Given the description of an element on the screen output the (x, y) to click on. 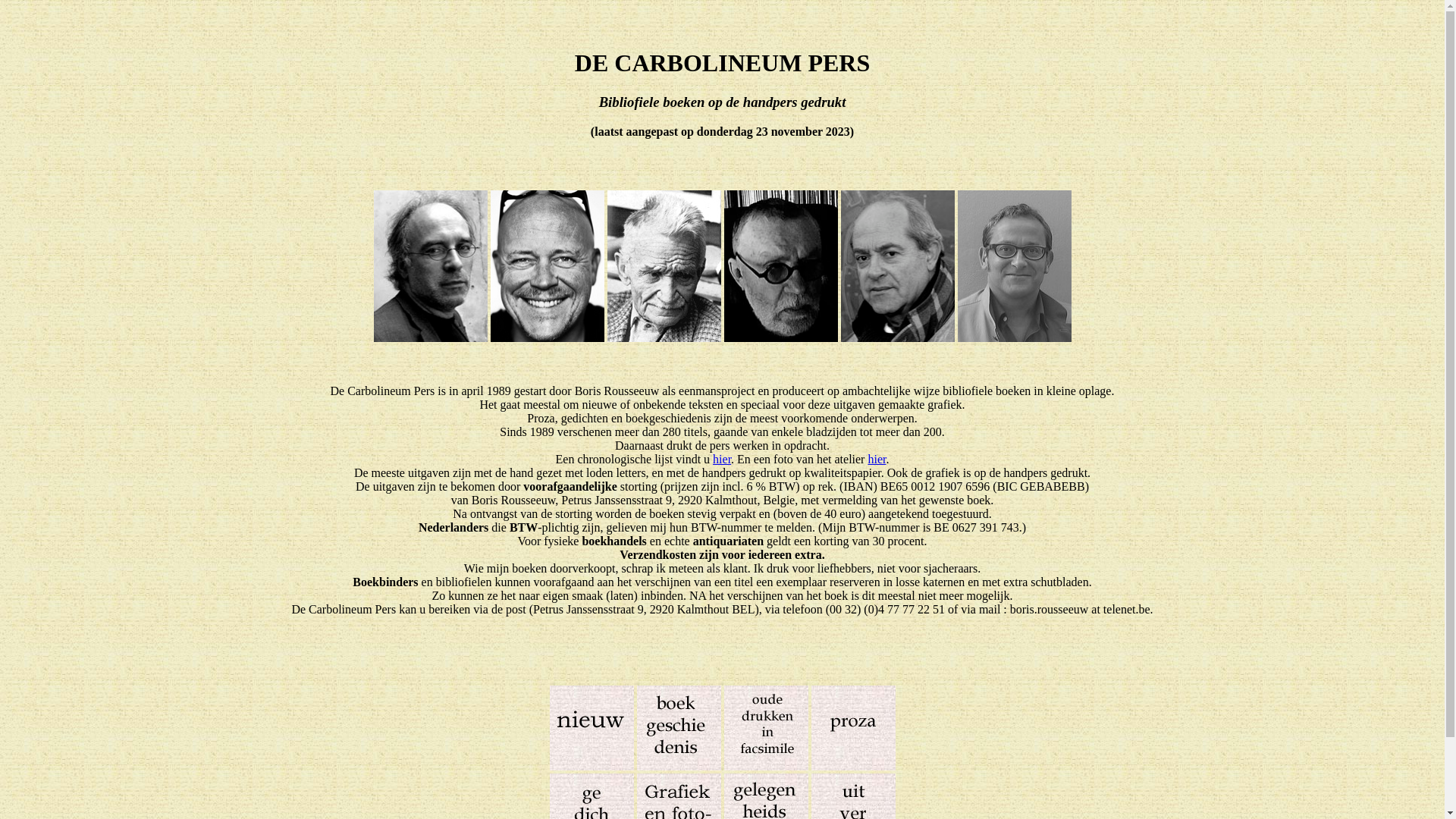
hier Element type: text (876, 458)
hier Element type: text (721, 458)
